Given the description of an element on the screen output the (x, y) to click on. 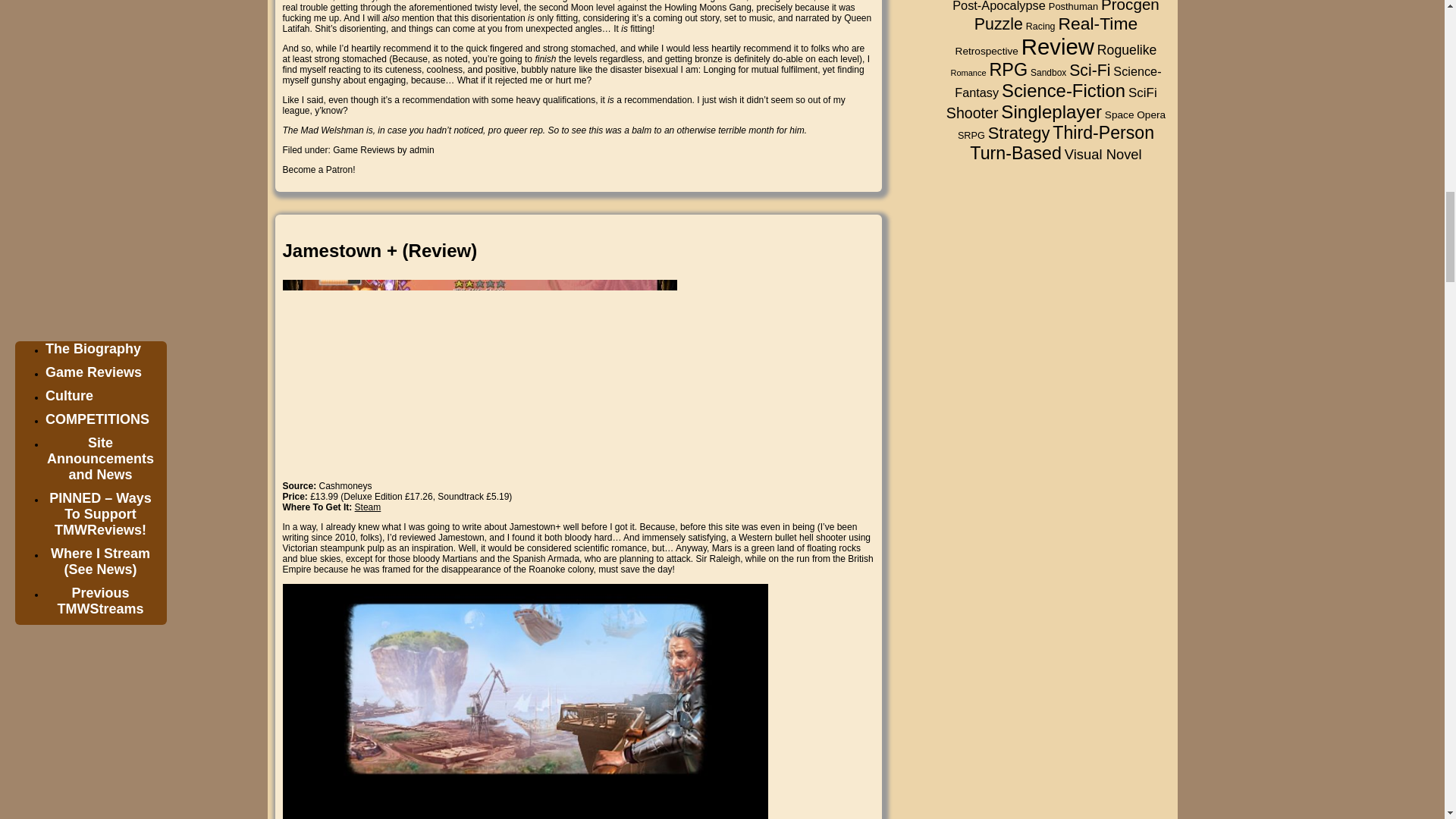
Game Reviews (363, 149)
Steam (368, 507)
Become a Patron! (318, 169)
